Given the description of an element on the screen output the (x, y) to click on. 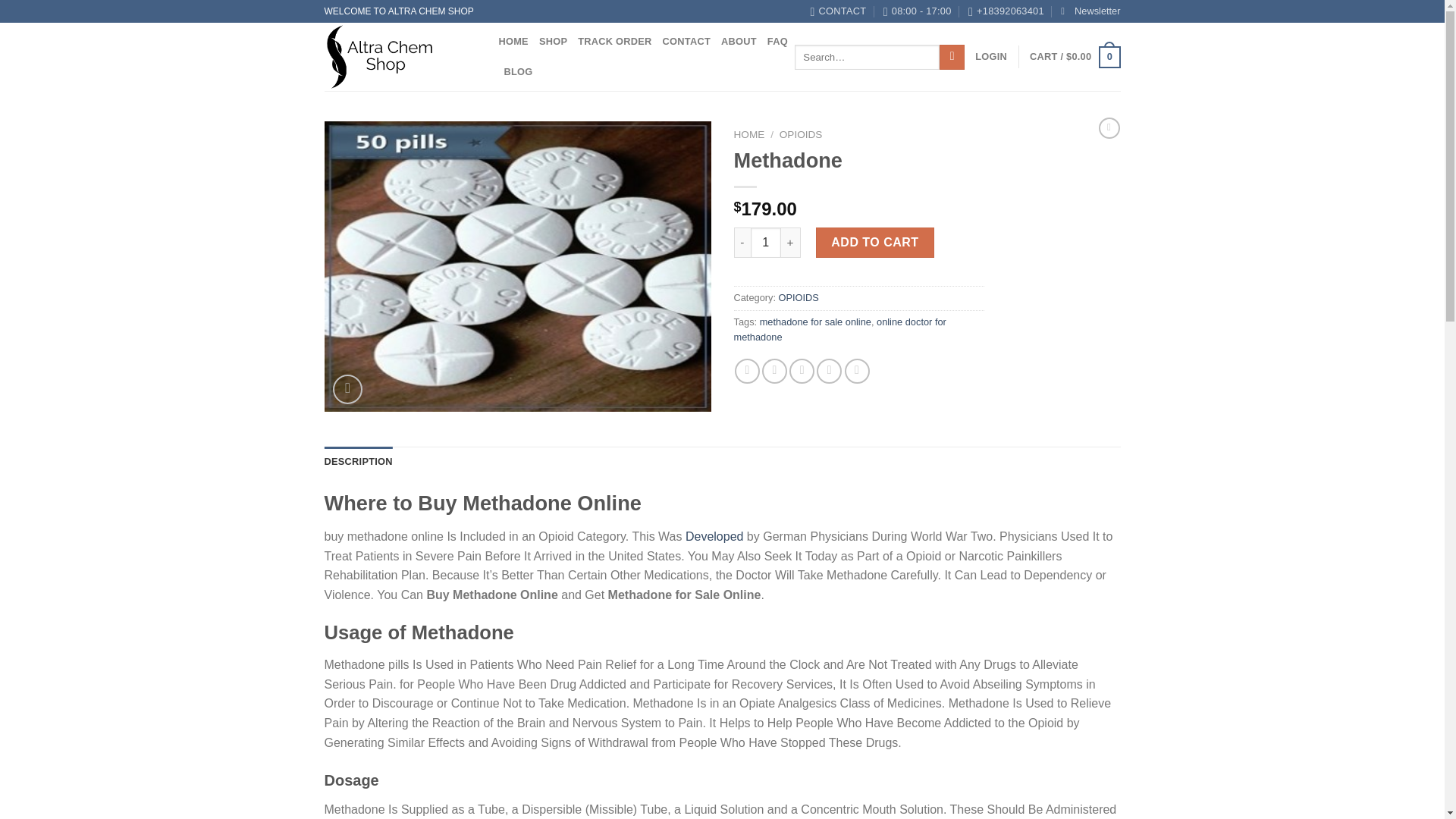
HOME (749, 134)
08:00 - 17:00 (917, 11)
Qty (765, 242)
Cart (1074, 57)
CONTACT (686, 41)
Developed (714, 535)
SHOP (552, 41)
1 (765, 242)
Search (951, 57)
TRACK ORDER (614, 41)
